Given the description of an element on the screen output the (x, y) to click on. 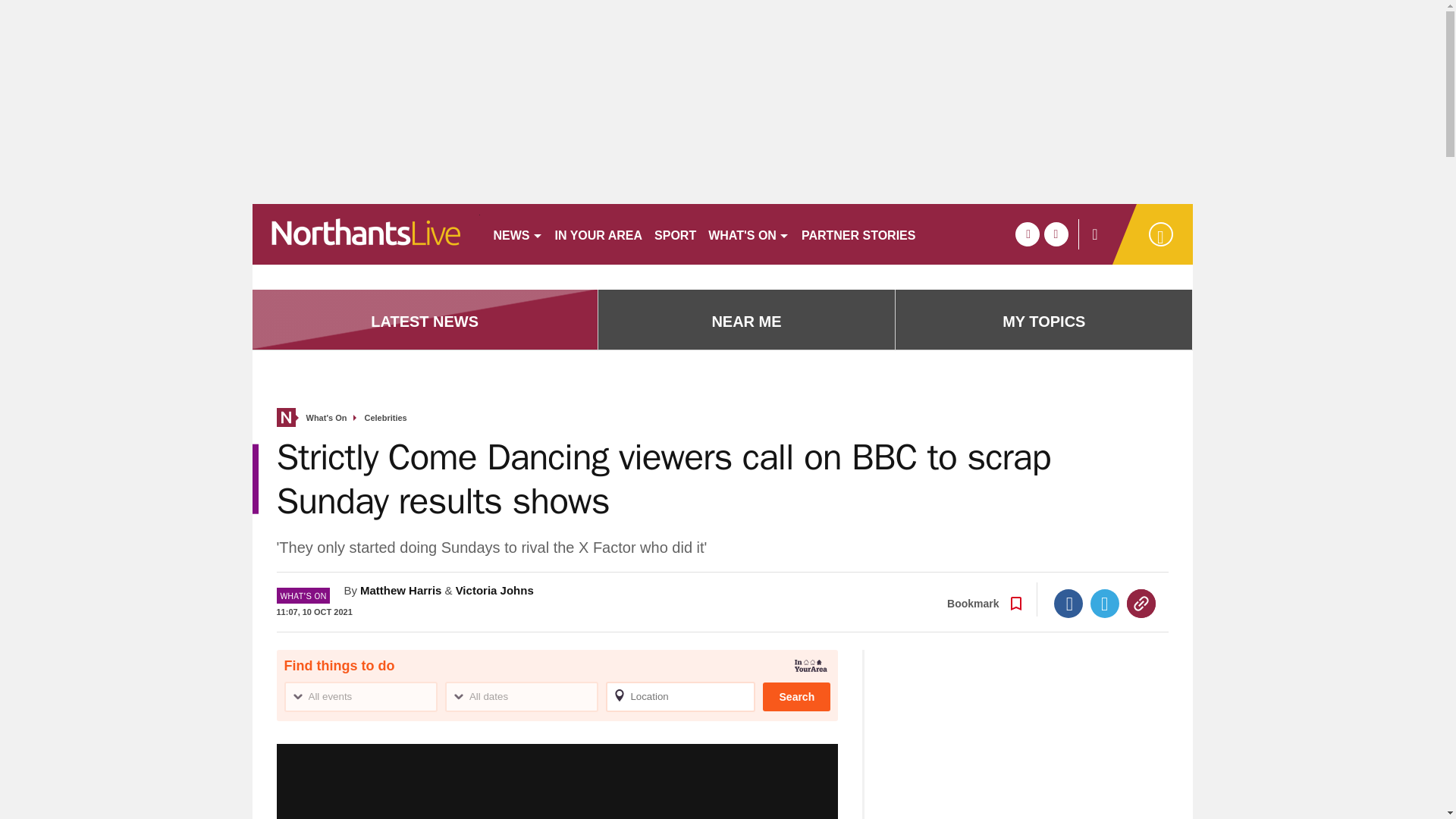
IN YOUR AREA (598, 233)
WHAT'S ON (747, 233)
PARTNER STORIES (857, 233)
facebook (1026, 233)
twitter (1055, 233)
NEAR ME (746, 320)
Twitter (1104, 603)
Facebook (1068, 603)
Home (285, 416)
What's On (326, 418)
